Given the description of an element on the screen output the (x, y) to click on. 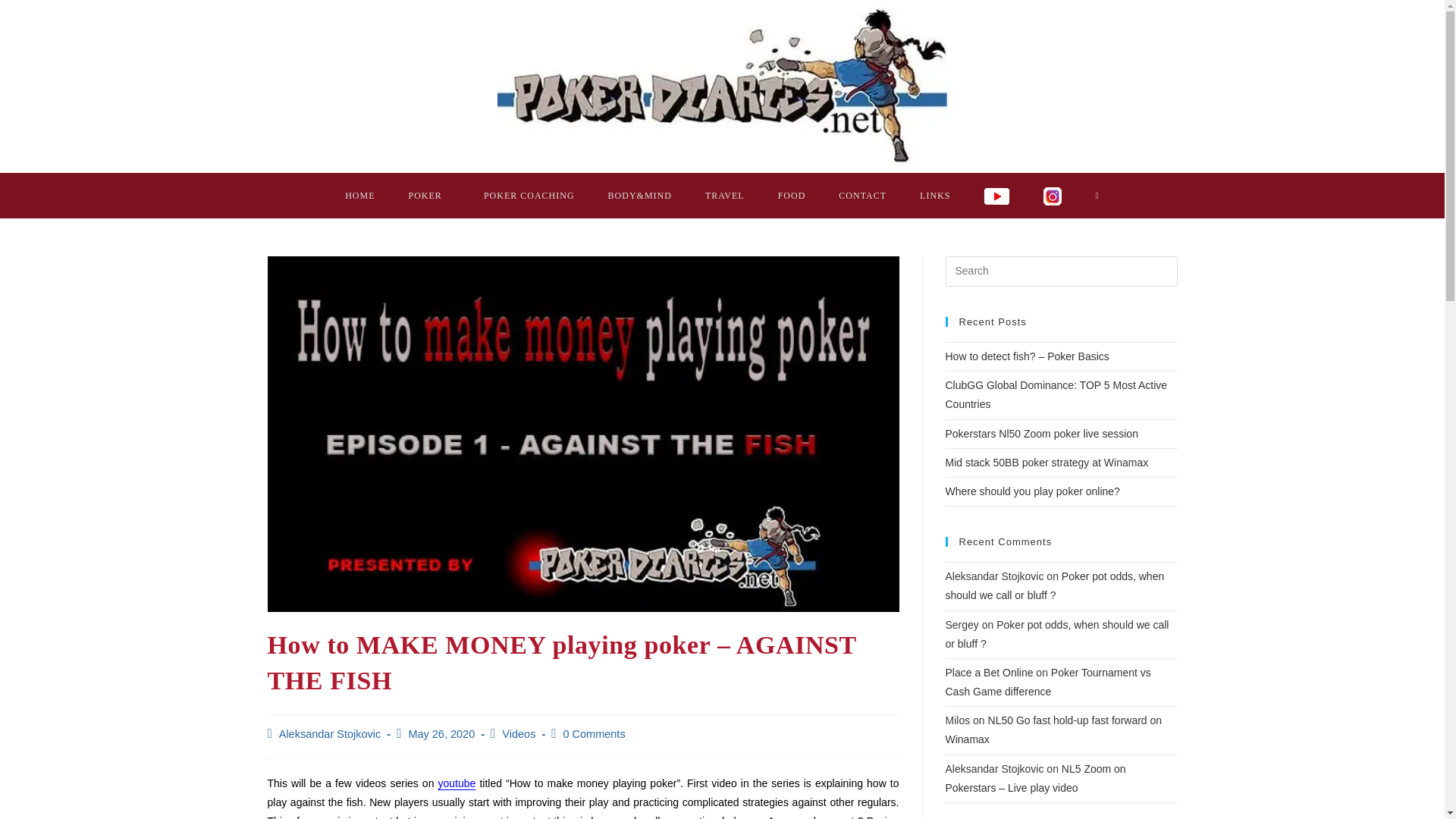
POKER COACHING (529, 195)
CONTACT (862, 195)
youtube (457, 782)
0 Comments (593, 734)
Videos (518, 734)
HOME (360, 195)
Aleksandar Stojkovic (330, 734)
TRAVEL (724, 195)
POKER (429, 195)
FOOD (791, 195)
